Given the description of an element on the screen output the (x, y) to click on. 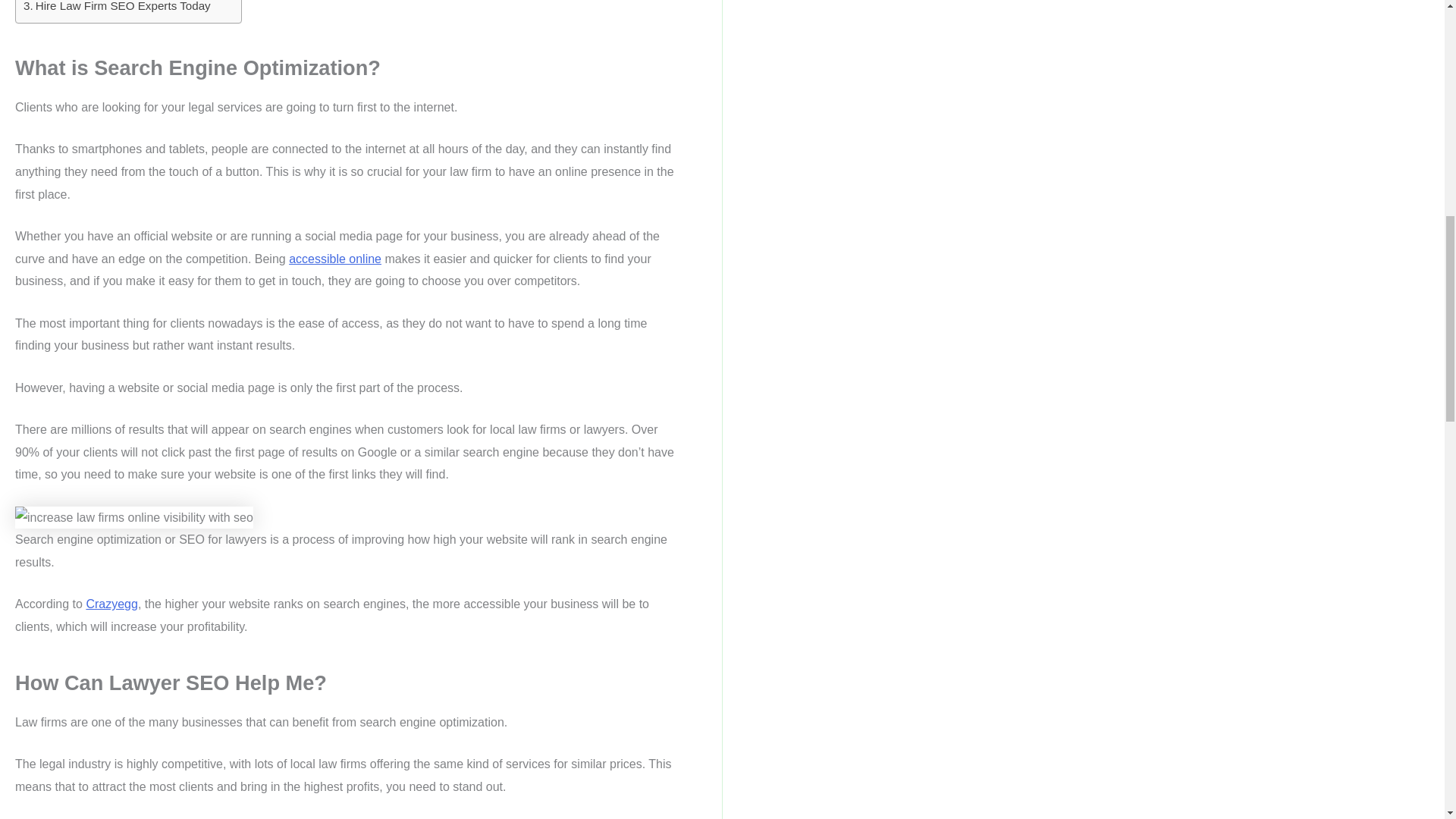
accessible online (334, 258)
Crazyegg (110, 603)
Hire Law Firm SEO Experts Today (117, 7)
Hire Law Firm SEO Experts Today (117, 7)
